Given the description of an element on the screen output the (x, y) to click on. 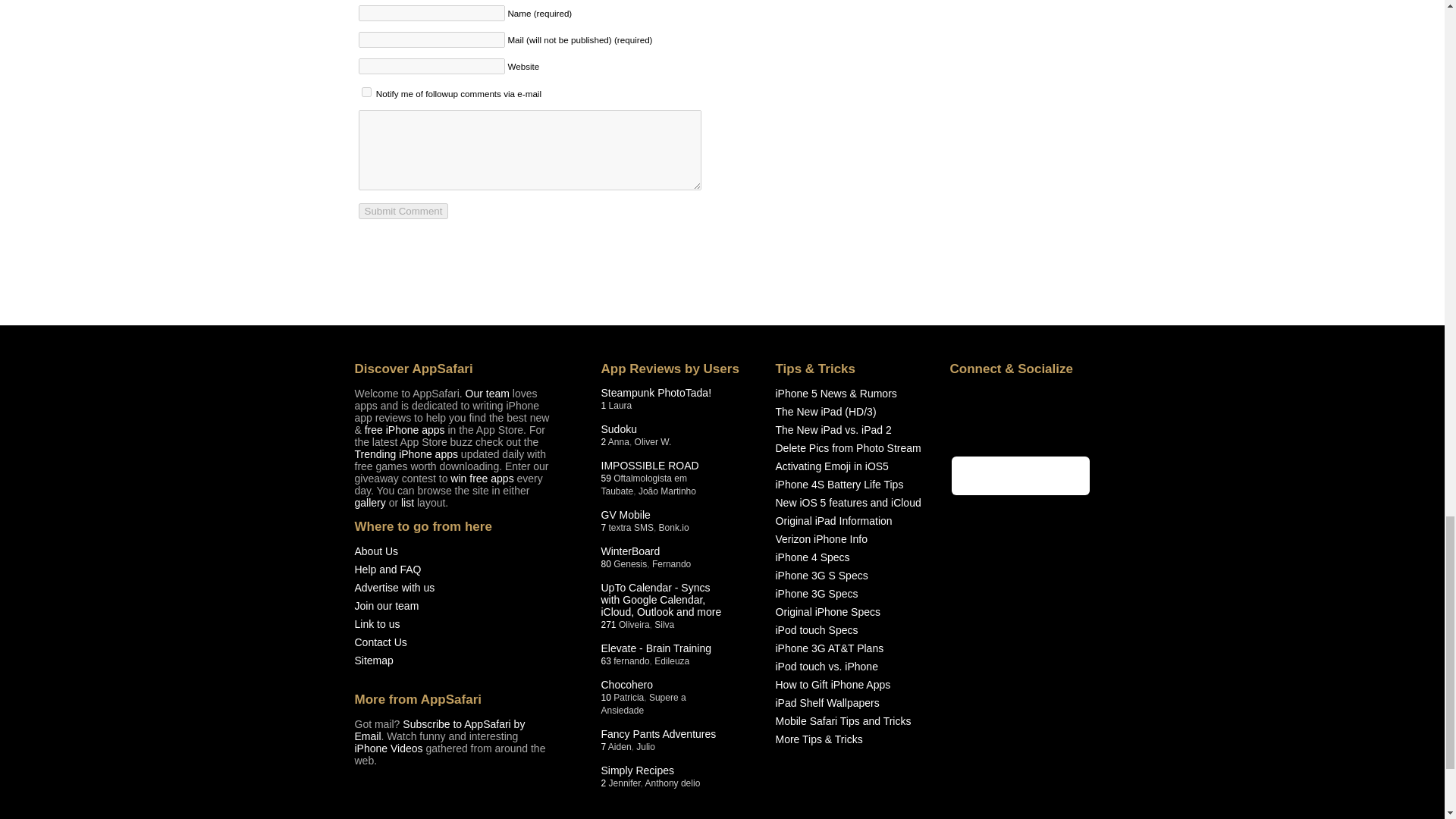
subscribe (366, 91)
Submit Comment (403, 211)
Submit Comment (403, 211)
